Given the description of an element on the screen output the (x, y) to click on. 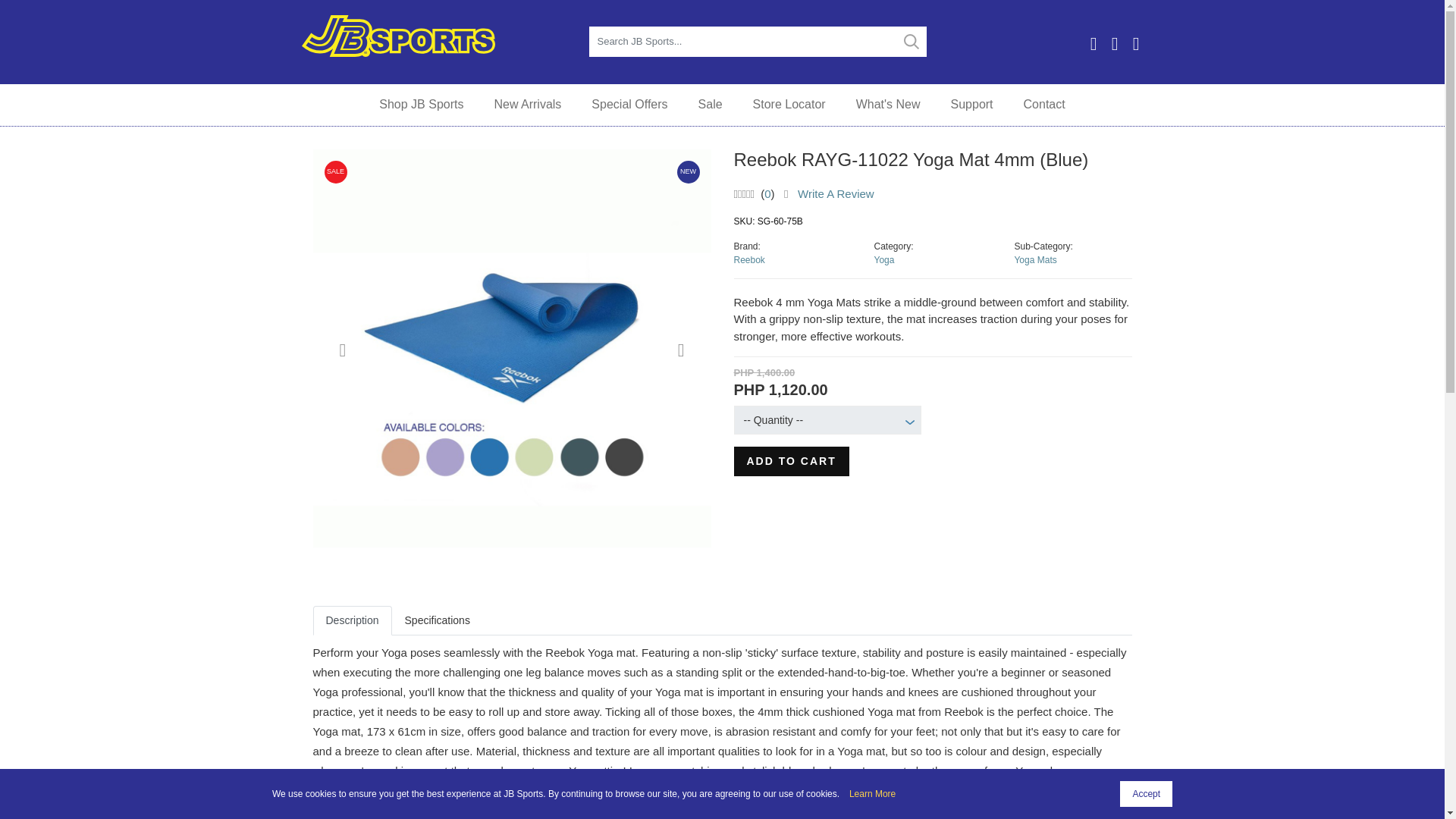
Shop JB Sports (421, 104)
Add to Cart (790, 460)
